Given the description of an element on the screen output the (x, y) to click on. 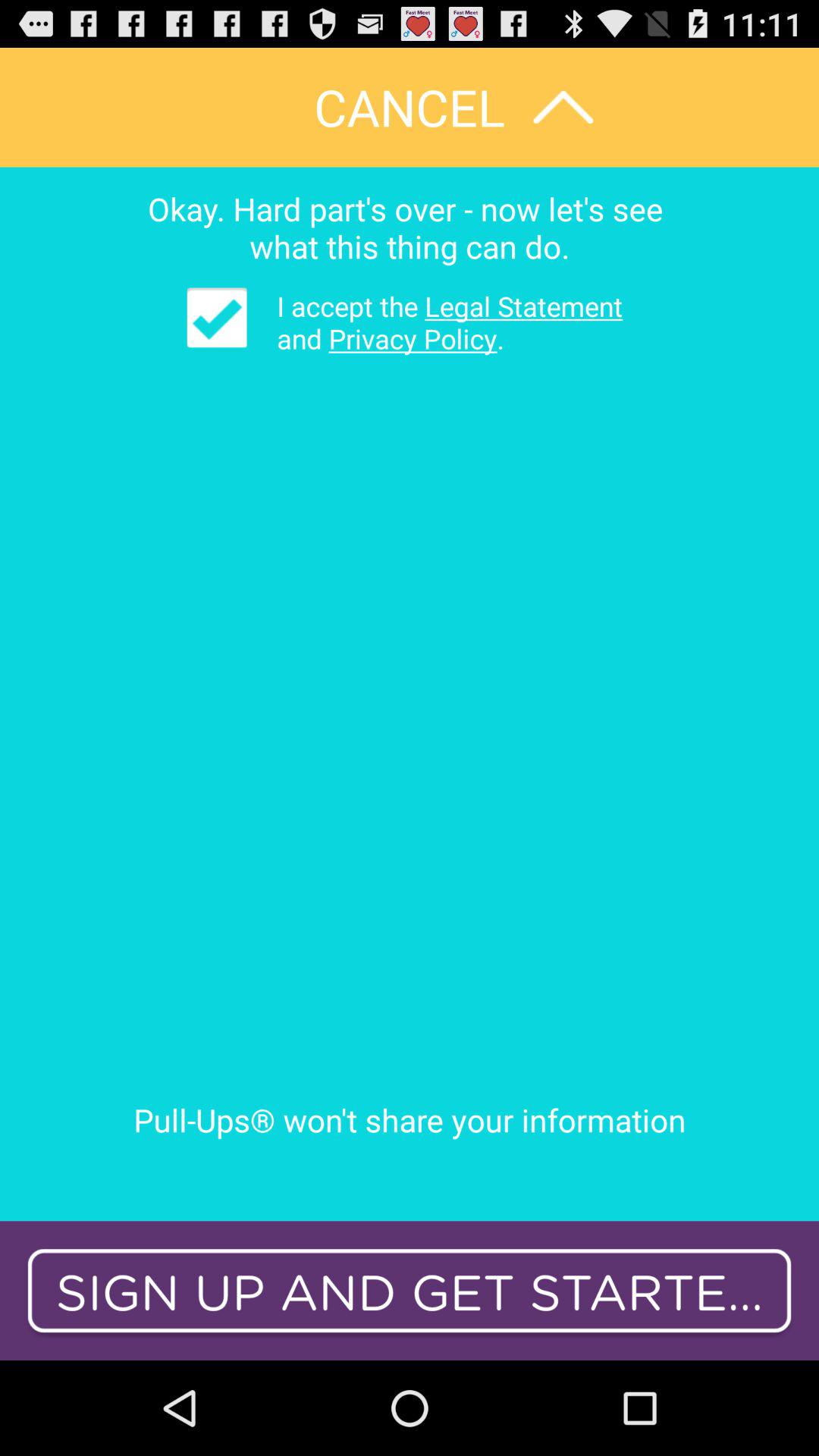
launch the item next to the i accept the item (216, 317)
